Given the description of an element on the screen output the (x, y) to click on. 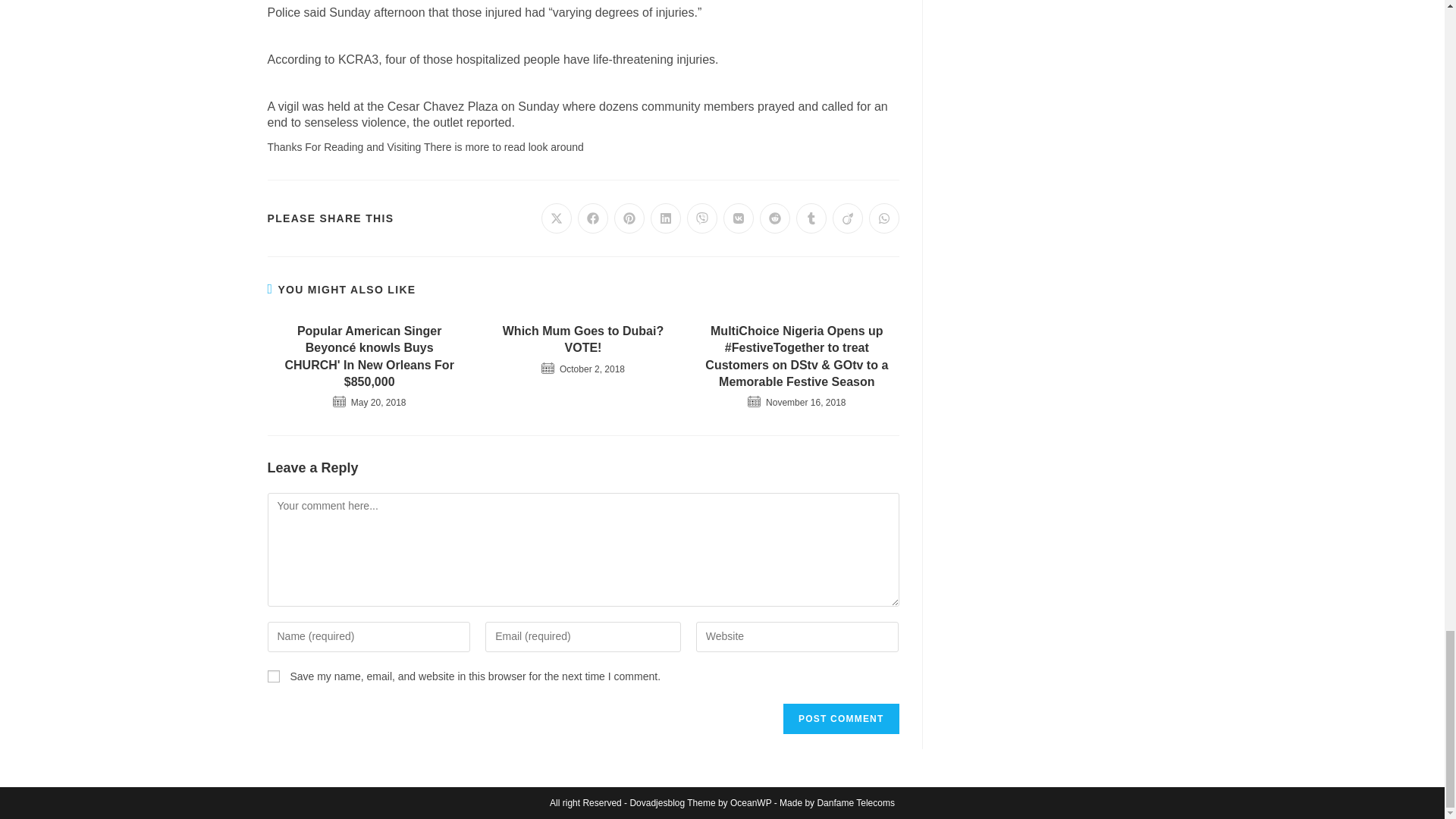
Opens in a new window (847, 218)
Post Comment (840, 718)
Post Comment (840, 718)
Opens in a new window (629, 218)
Opens in a new window (665, 218)
Opens in a new window (884, 218)
Opens in a new window (556, 218)
Opens in a new window (593, 218)
Opens in a new window (775, 218)
Which Mum Goes to Dubai? VOTE! (582, 339)
